Given the description of an element on the screen output the (x, y) to click on. 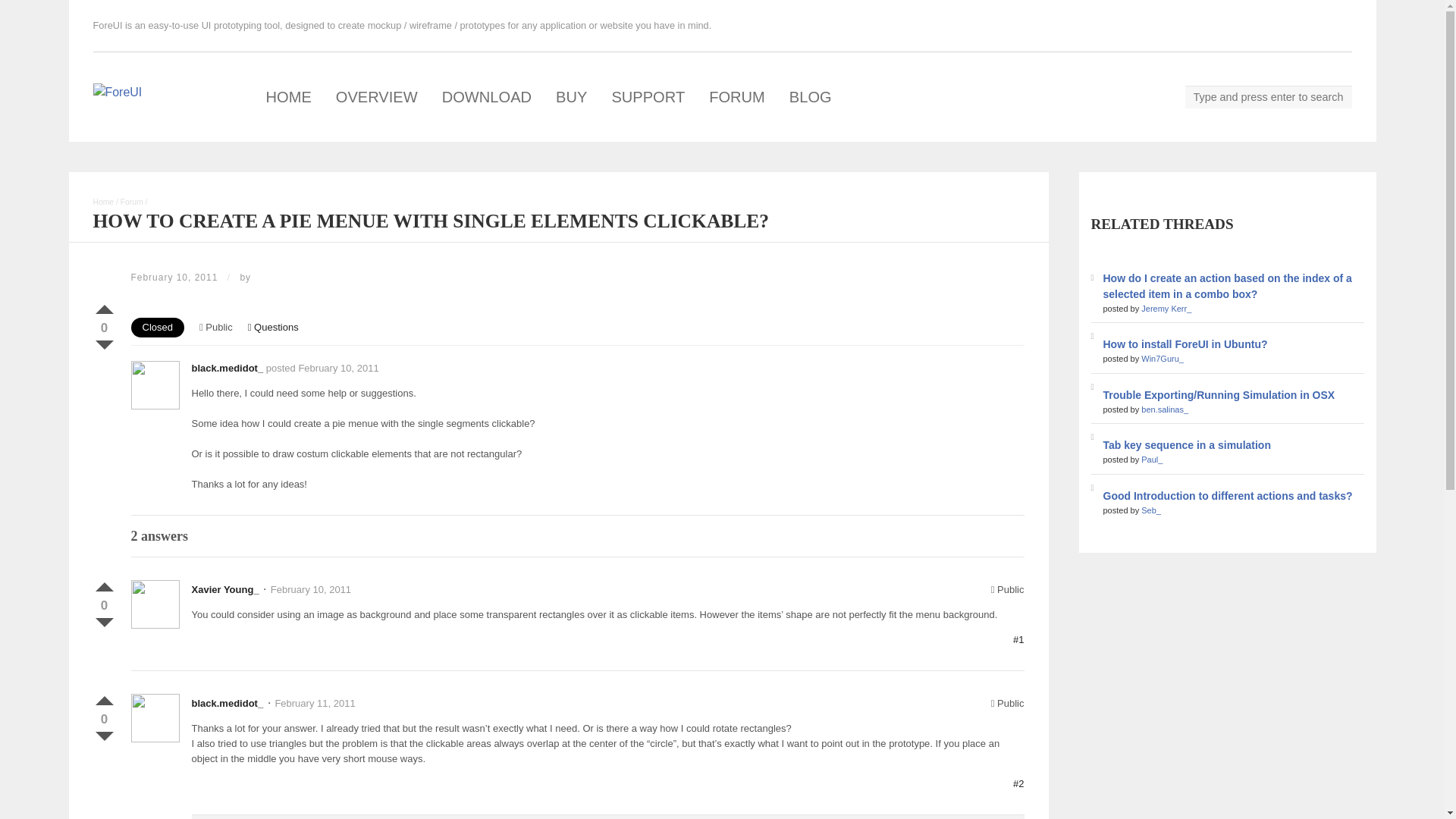
Facebook (1170, 25)
posted February 10, 2011 (322, 367)
Flickr (1199, 25)
DOWNLOAD (486, 96)
February 10, 2011 (310, 589)
Questions (272, 326)
OVERVIEW (376, 96)
VOTE UP (104, 583)
GitHub2 (1226, 25)
Vote Down (104, 341)
